Given the description of an element on the screen output the (x, y) to click on. 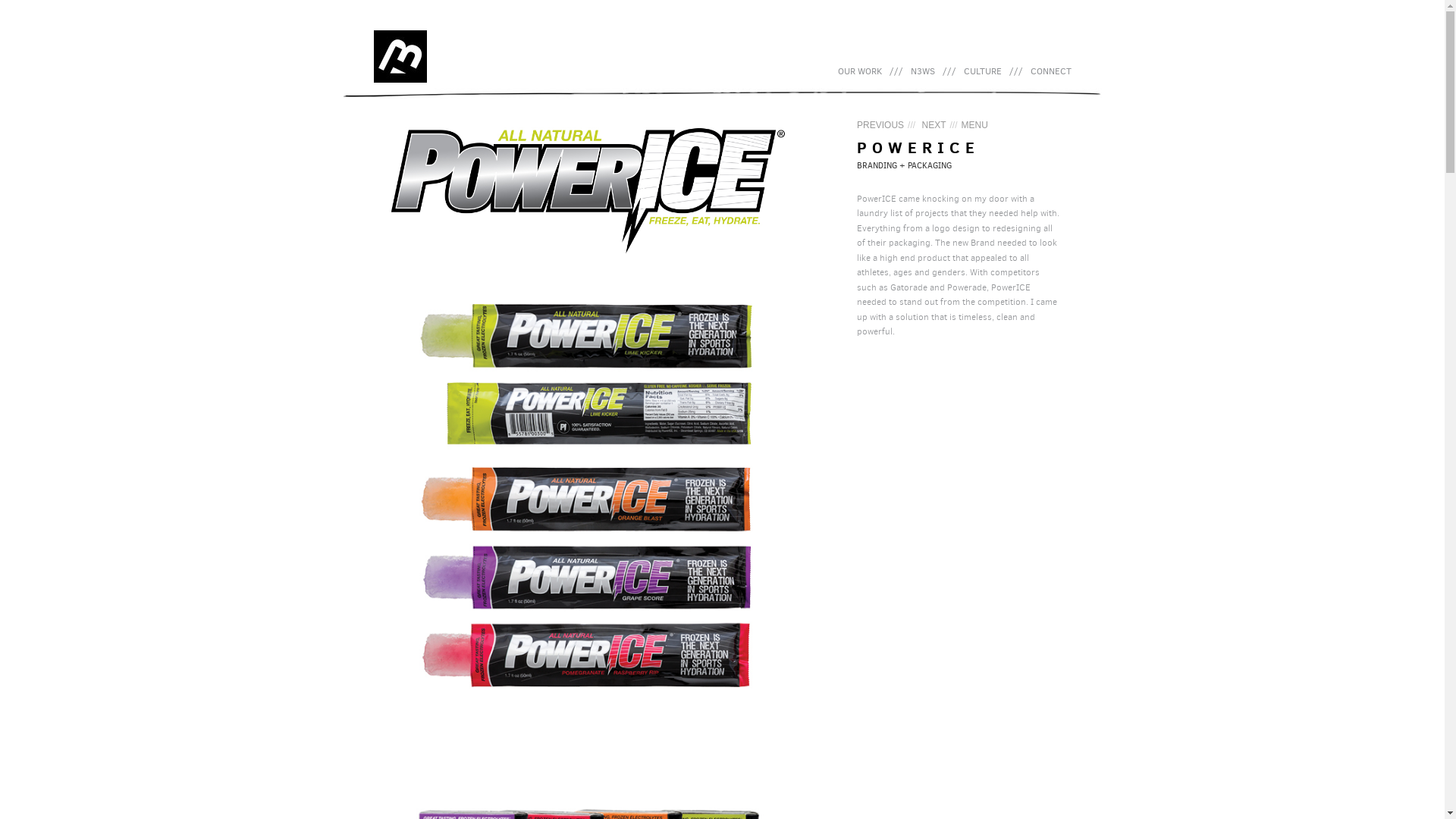
Skip to secondary content Element type: text (898, 71)
Skip to primary content Element type: text (892, 71)
/// NEXT Element type: text (924, 124)
/// Element type: text (1015, 71)
N3WS Element type: text (922, 71)
CONNECT Element type: text (1050, 71)
MENU Element type: text (973, 124)
/// Element type: text (949, 71)
OUR WORK Element type: text (859, 71)
CULTURE Element type: text (982, 71)
/// Element type: text (895, 71)
PREVIOUS Element type: text (879, 124)
